Given the description of an element on the screen output the (x, y) to click on. 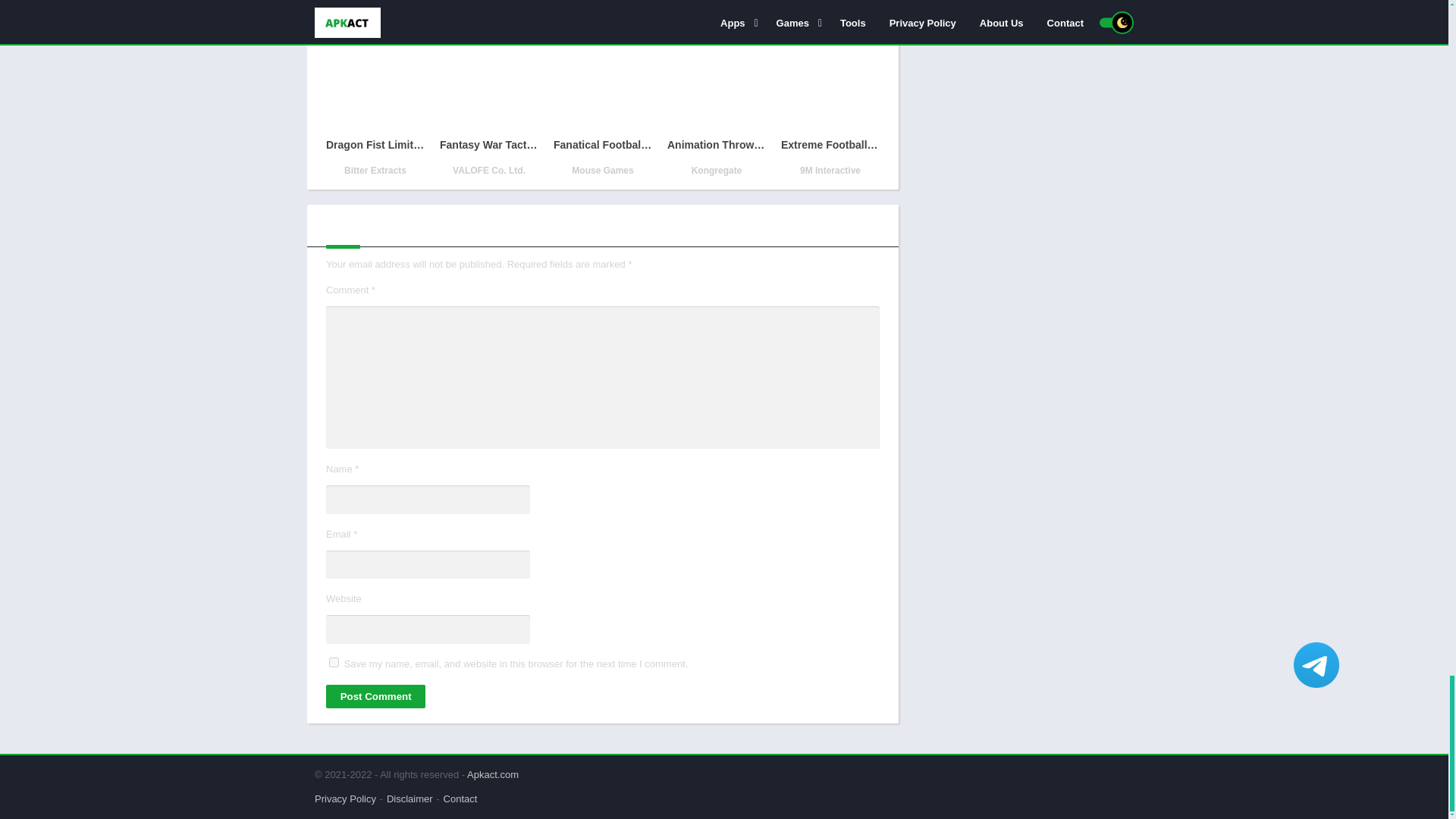
Post Comment (375, 696)
yes (334, 662)
